Given the description of an element on the screen output the (x, y) to click on. 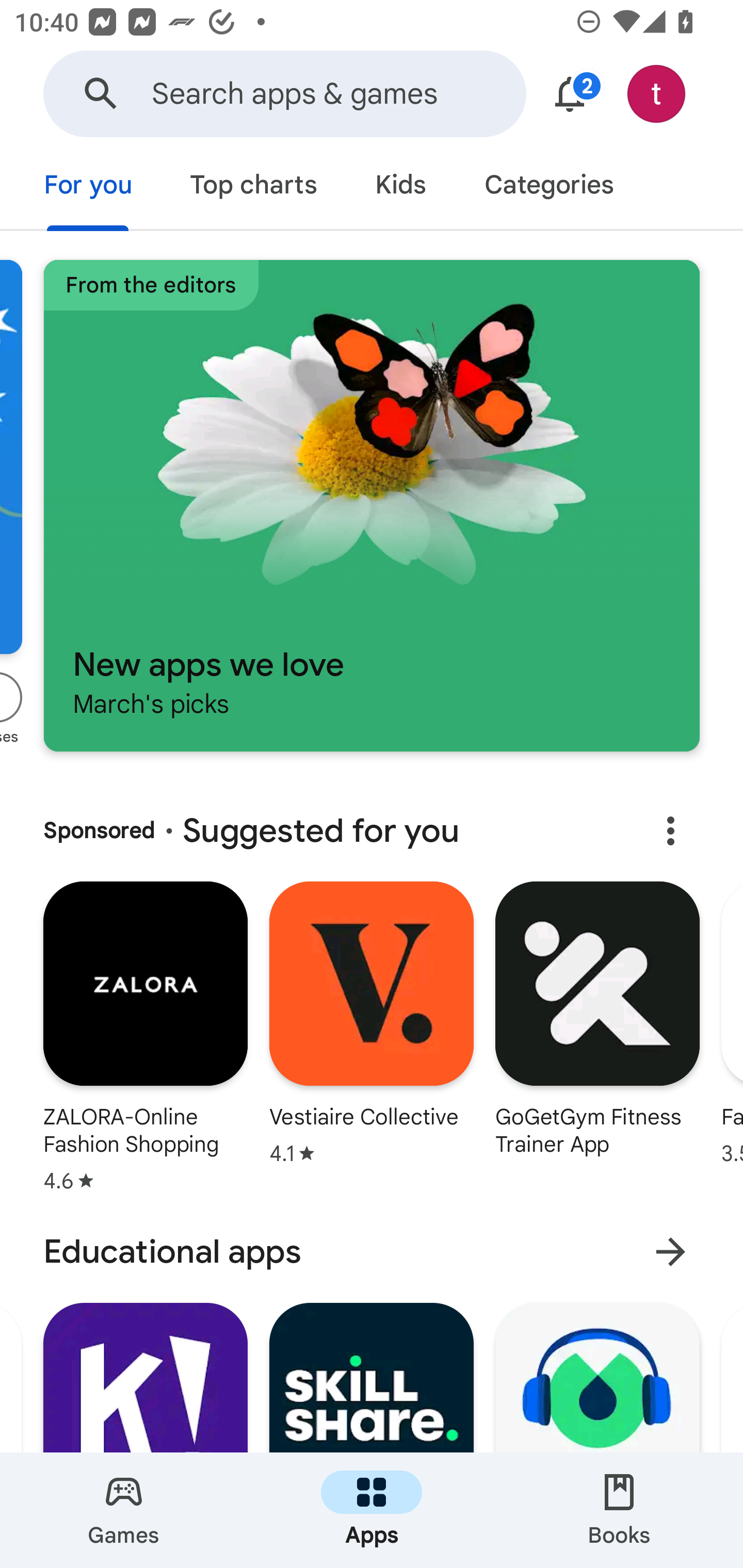
Search Google Play Search apps & games (284, 93)
Search Google Play (100, 93)
Top charts (253, 187)
Kids (400, 187)
Categories (548, 187)
New apps we love March's picks From the editors (371, 505)
About this ad (670, 830)
ZALORA-Online Fashion Shopping
Star rating: 4.6
 (145, 1041)
Vestiaire Collective
Star rating: 4.1
 (371, 1041)
GoGetGym Fitness Trainer App
 (597, 1041)
Educational apps More results for Educational apps (371, 1252)
More results for Educational apps (670, 1251)
Games (123, 1509)
Books (619, 1509)
